Given the description of an element on the screen output the (x, y) to click on. 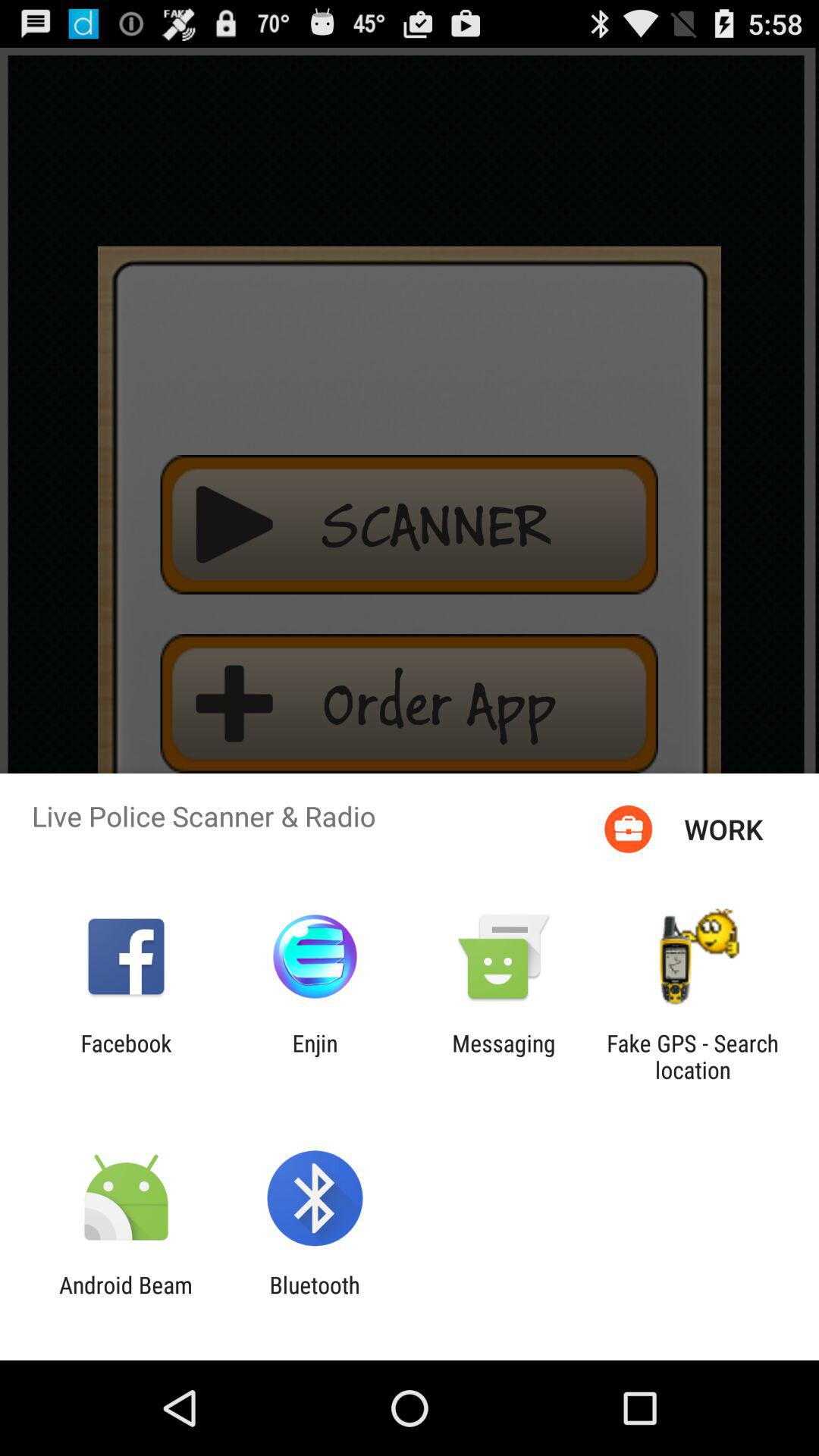
click the app to the right of the enjin (503, 1056)
